Given the description of an element on the screen output the (x, y) to click on. 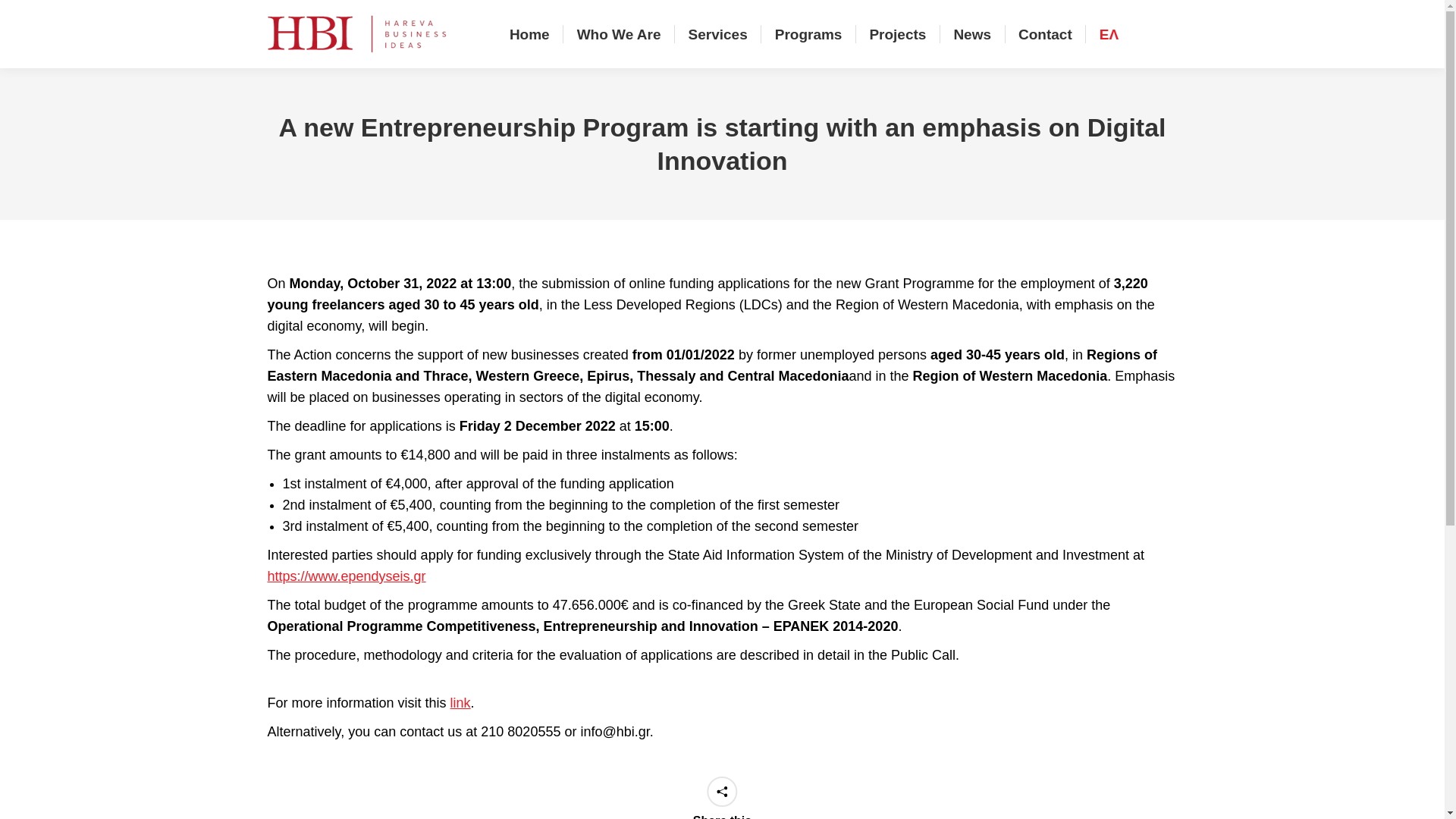
Projects (897, 33)
News (972, 33)
Who We Are (618, 33)
Services (718, 33)
Contact (1044, 33)
Home (529, 33)
Programs (808, 33)
